Given the description of an element on the screen output the (x, y) to click on. 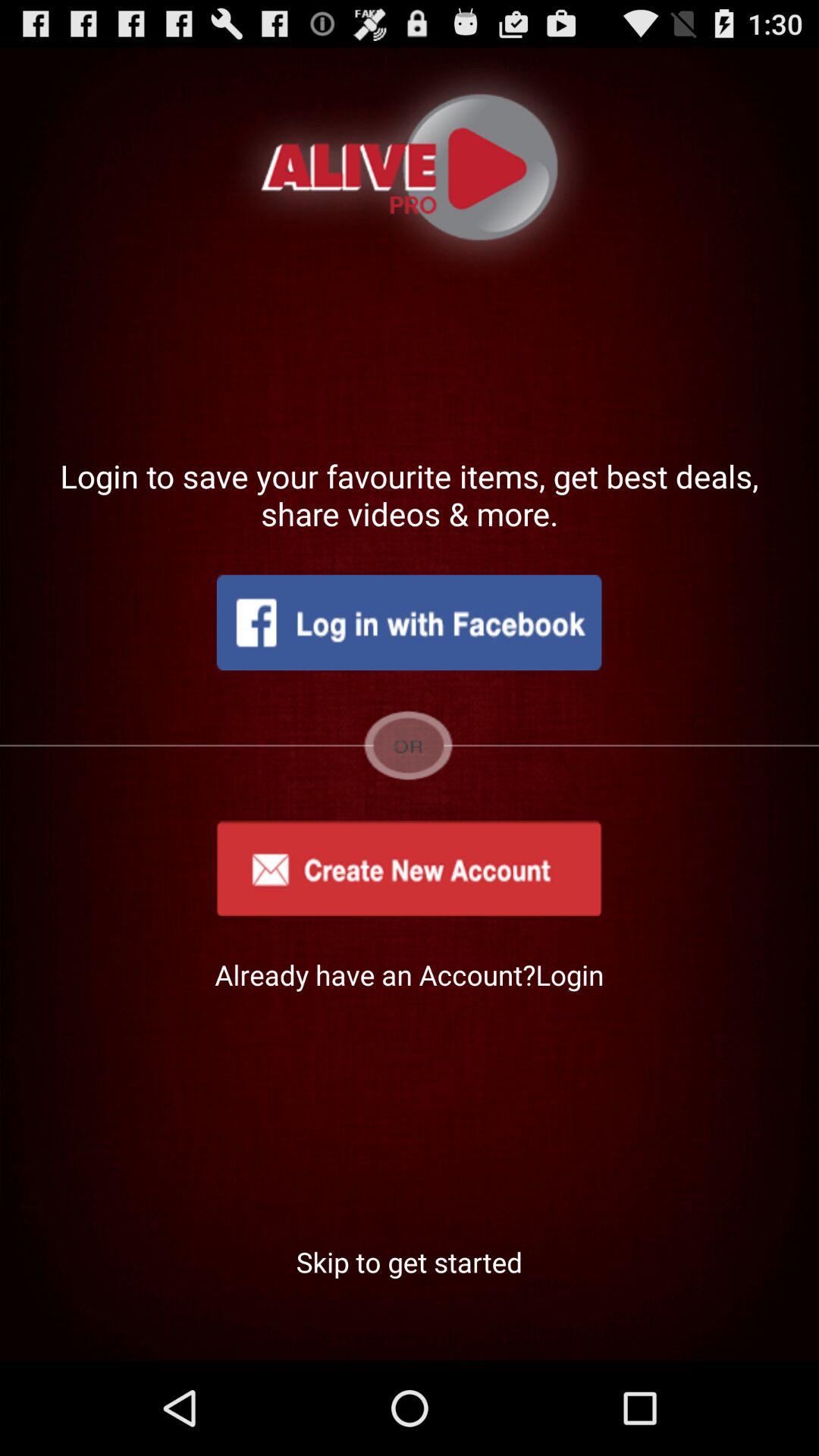
login (408, 622)
